Given the description of an element on the screen output the (x, y) to click on. 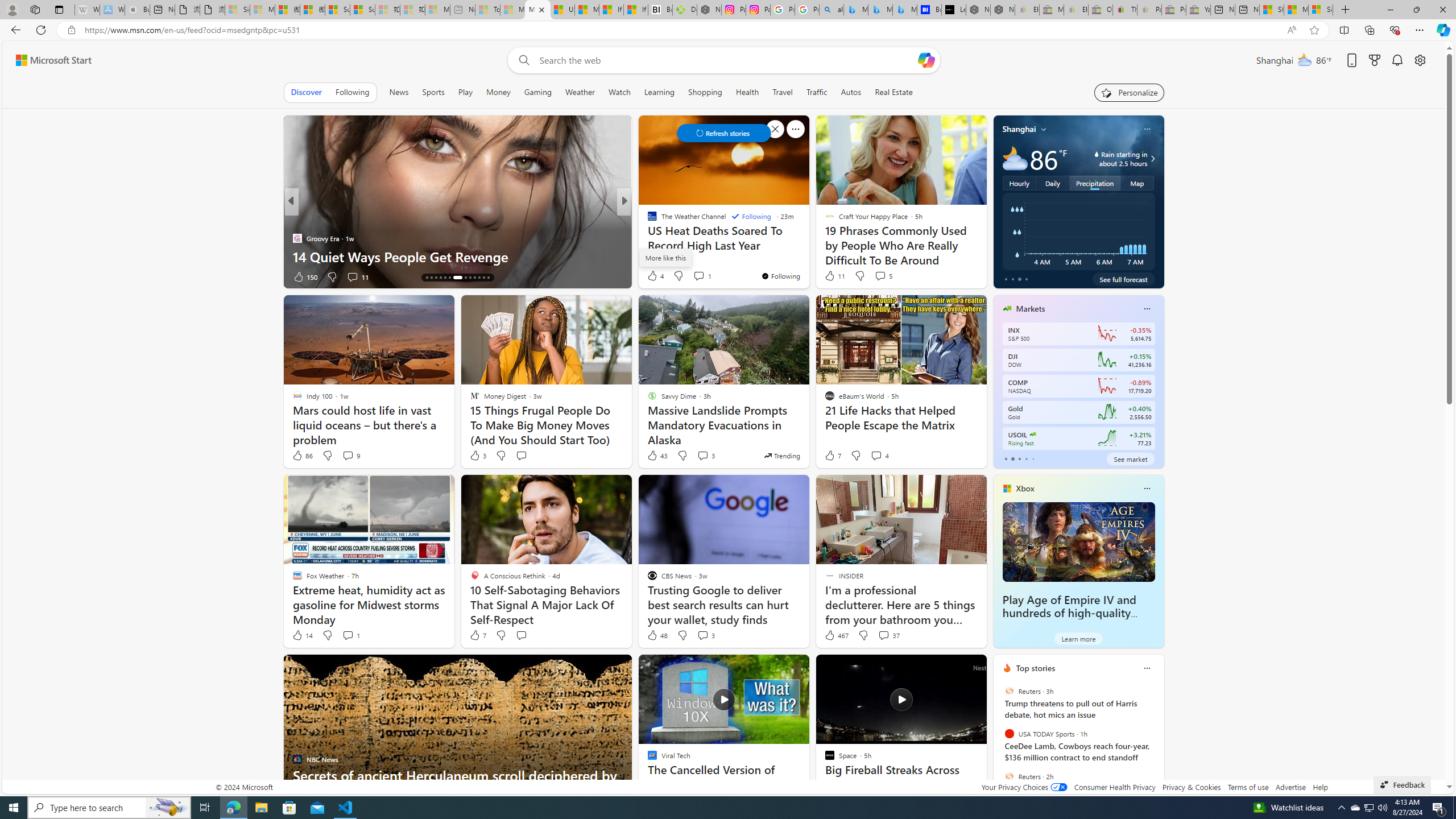
Settings and more (Alt+F) (1419, 29)
Travel (782, 92)
Open settings (1420, 60)
View comments 3 Comment (703, 635)
View comments 339 Comment (6, 276)
The Register (647, 238)
Sports (432, 92)
14 Like (301, 634)
tab-3 (1025, 458)
311 Like (654, 276)
AutomationID: tab-26 (488, 277)
Marine life - MSN - Sleeping (512, 9)
